Given the description of an element on the screen output the (x, y) to click on. 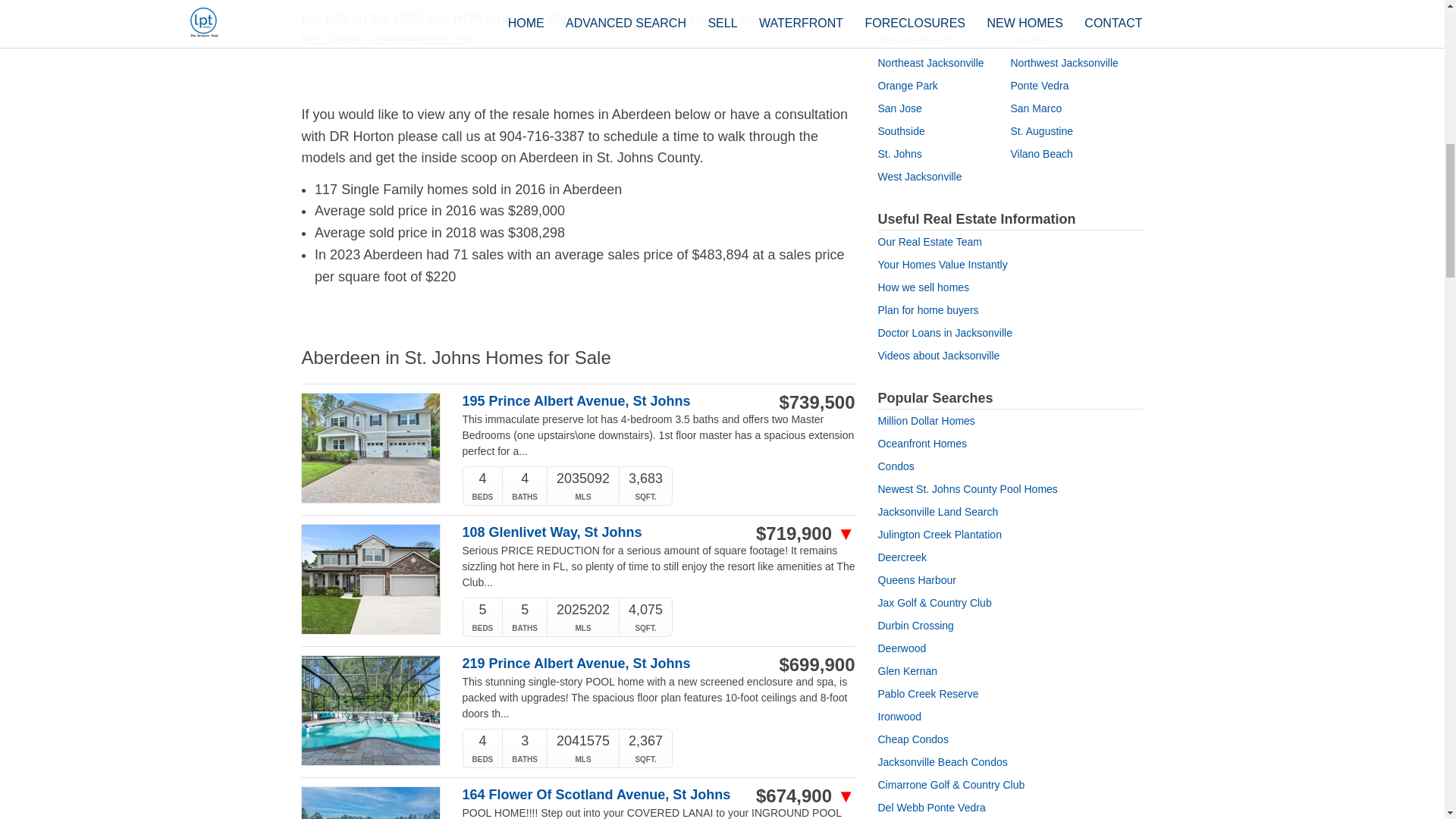
164 Flower Of Scotland Avenue, St Johns (600, 795)
195 Prince Albert Avenue, St Johns (600, 401)
108 Glenlivet Way, St Johns (600, 532)
219 Prince Albert Avenue, St Johns (600, 663)
